Given the description of an element on the screen output the (x, y) to click on. 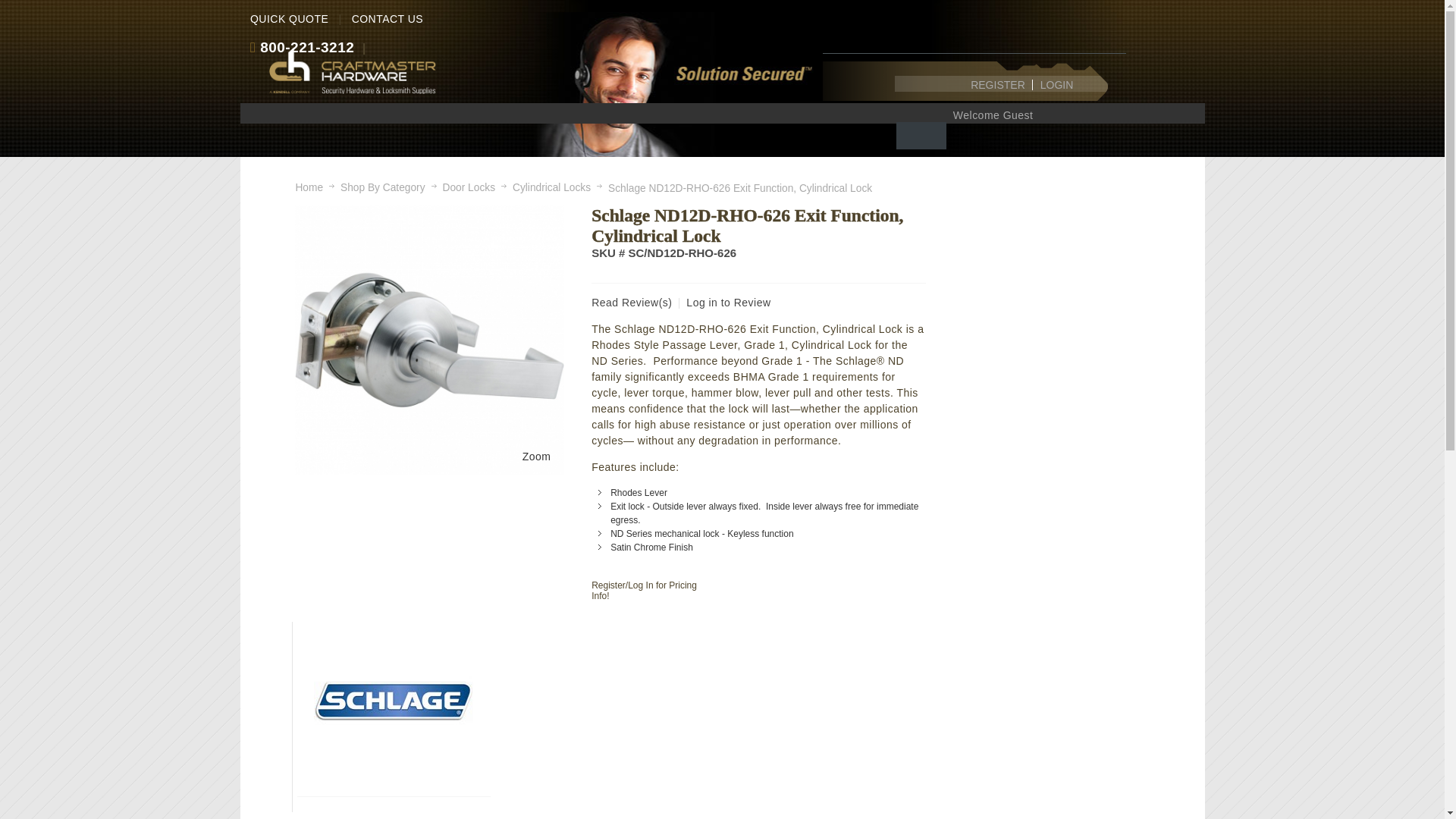
 Schlage ND12D-RHO-626 Exit Function, Cylindrical Lock (429, 212)
Schlage Lock (393, 701)
Schlage ND12D-RHO-626 Exit Function, Cylindrical Lock (537, 456)
Login (1056, 84)
 Schlage ND12D-RHO-626 Exit Function, Cylindrical Lock (429, 339)
Check the items in your Cart (921, 135)
Register (997, 84)
Click to see more products from Schlage Lock (394, 701)
